Given the description of an element on the screen output the (x, y) to click on. 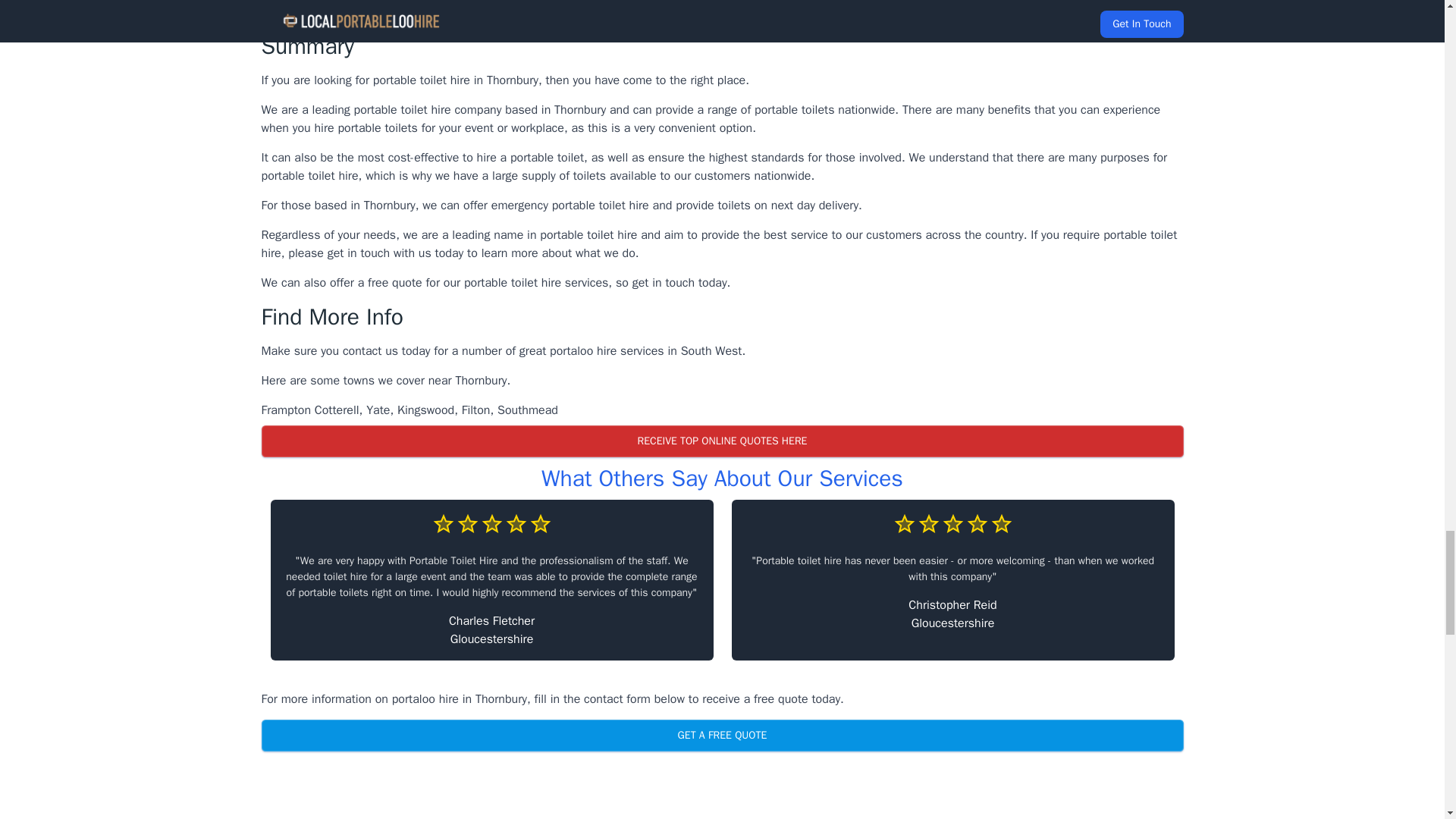
Filton (475, 409)
Yate (378, 409)
Kingswood (425, 409)
GET A FREE QUOTE (721, 735)
RECEIVE TOP ONLINE QUOTES HERE (721, 441)
Frampton Cotterell (309, 409)
Southmead (527, 409)
